Given the description of an element on the screen output the (x, y) to click on. 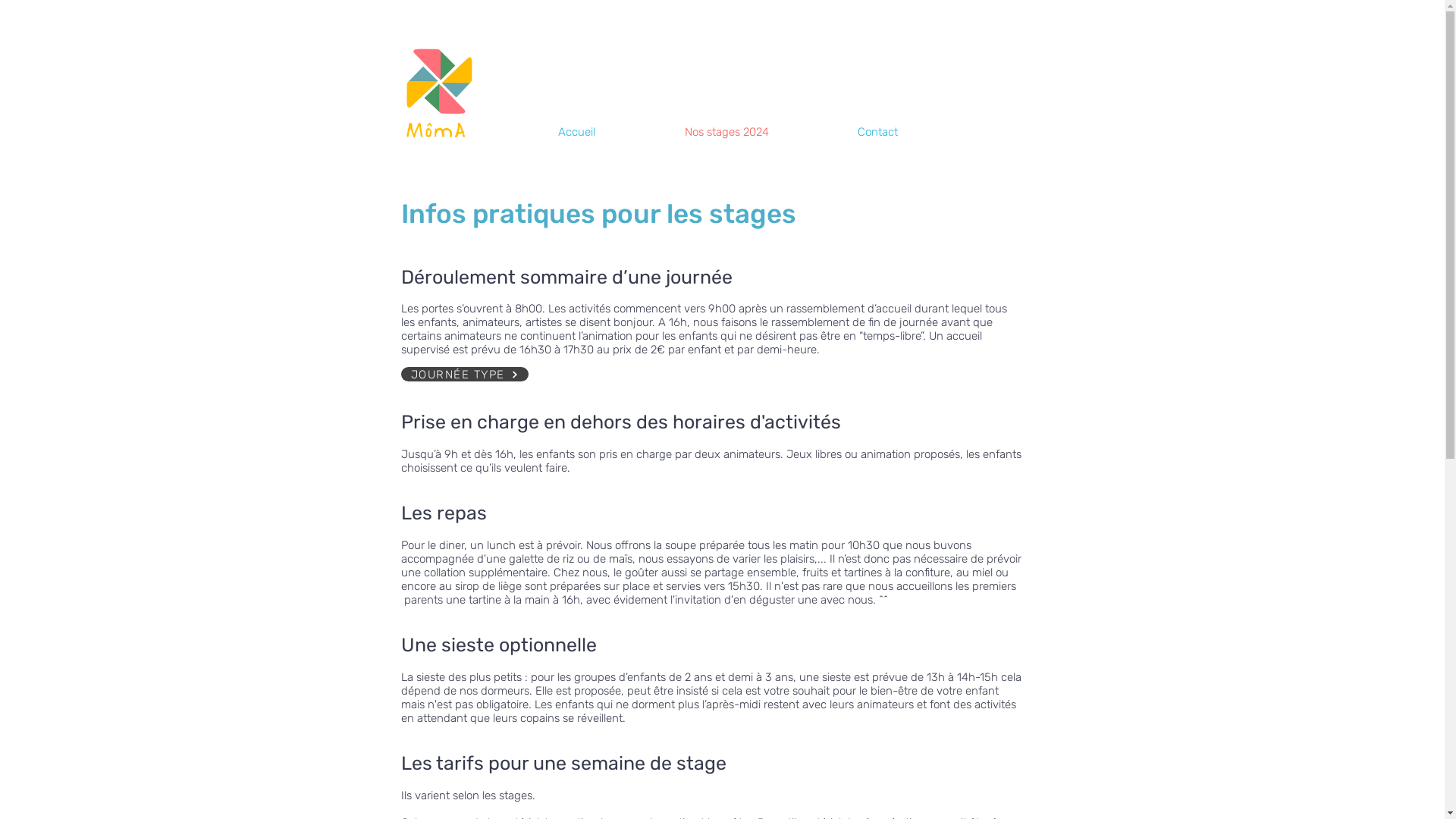
Nos stages 2024 Element type: text (759, 132)
Accueil Element type: text (609, 132)
Contact Element type: text (910, 132)
